Given the description of an element on the screen output the (x, y) to click on. 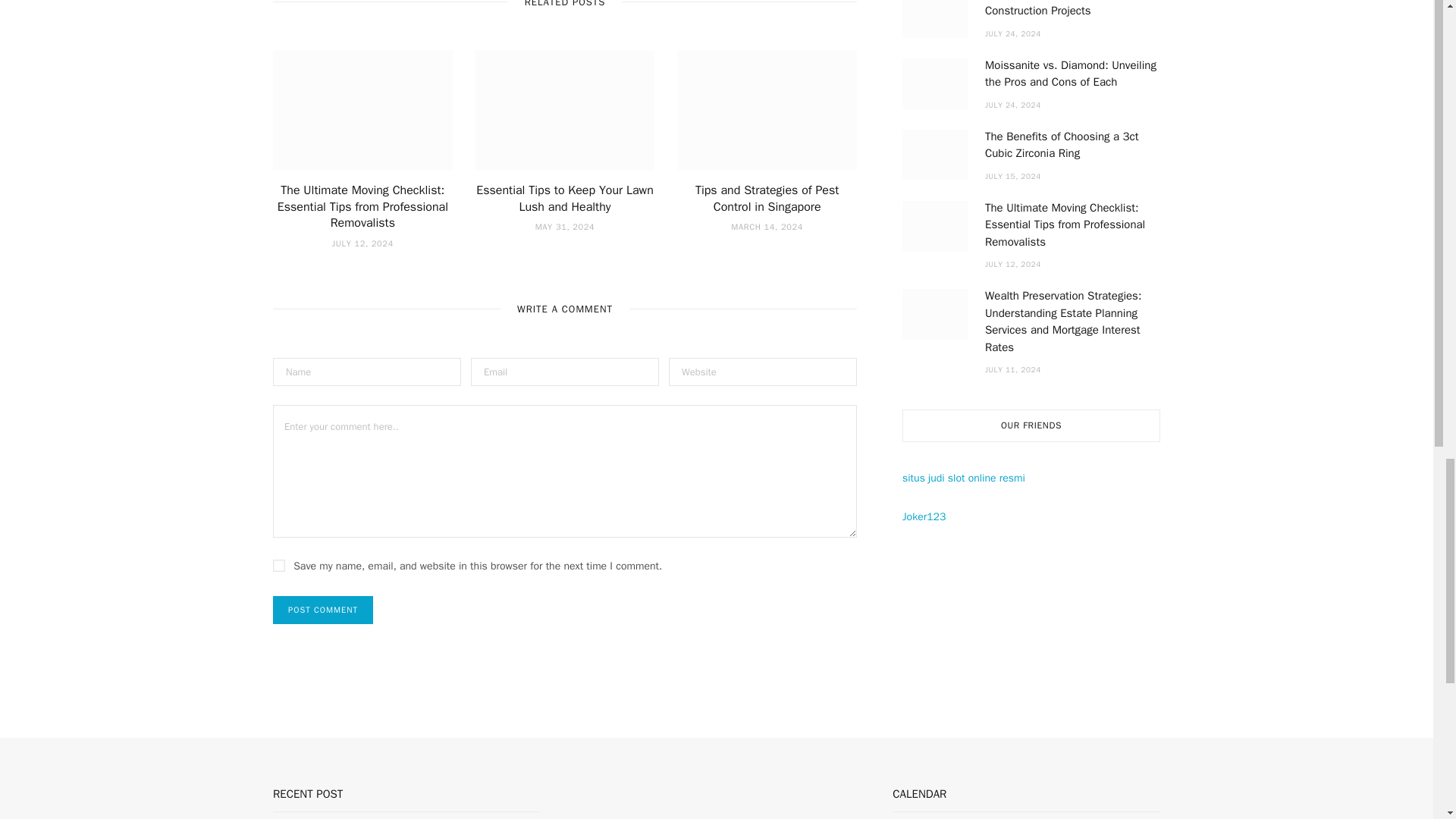
MARCH 14, 2024 (766, 226)
Essential Tips to Keep Your Lawn Lush and Healthy (564, 198)
JULY 12, 2024 (362, 243)
Post Comment (322, 610)
MAY 31, 2024 (565, 226)
yes (279, 565)
Post Comment (322, 610)
Tips and Strategies of Pest Control in Singapore (767, 198)
